Given the description of an element on the screen output the (x, y) to click on. 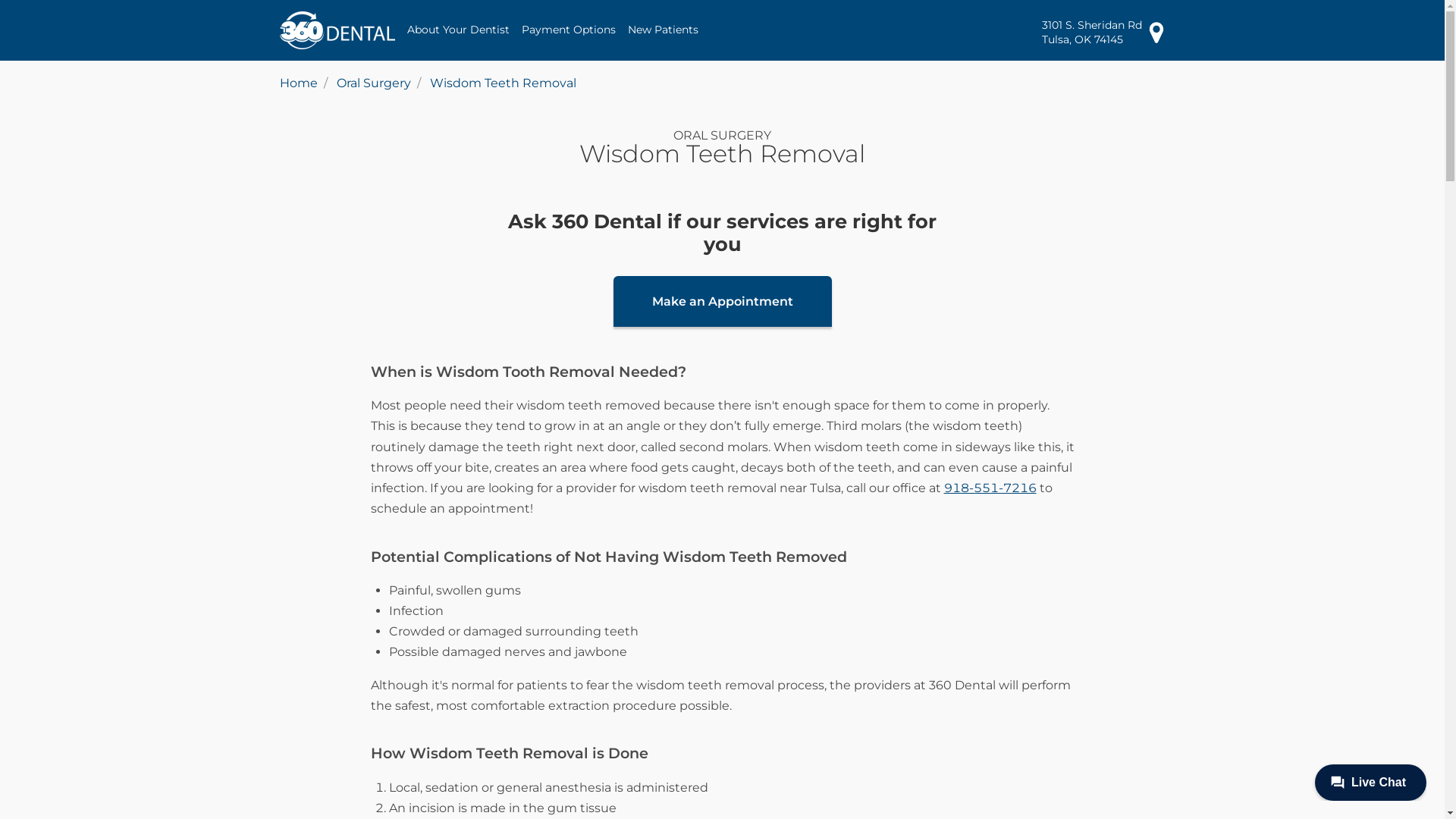
New Patients Element type: text (662, 29)
Payment Options Element type: text (568, 29)
Wisdom Teeth Removal Element type: text (502, 82)
Make an Appointment Element type: text (721, 301)
918-551-7216 Element type: text (989, 487)
Oral Surgery Element type: text (373, 82)
Home Element type: text (297, 82)
About Your Dentist Element type: text (457, 29)
3101 S. Sheridan Rd
Tulsa, OK 74145 Element type: text (1103, 31)
